Given the description of an element on the screen output the (x, y) to click on. 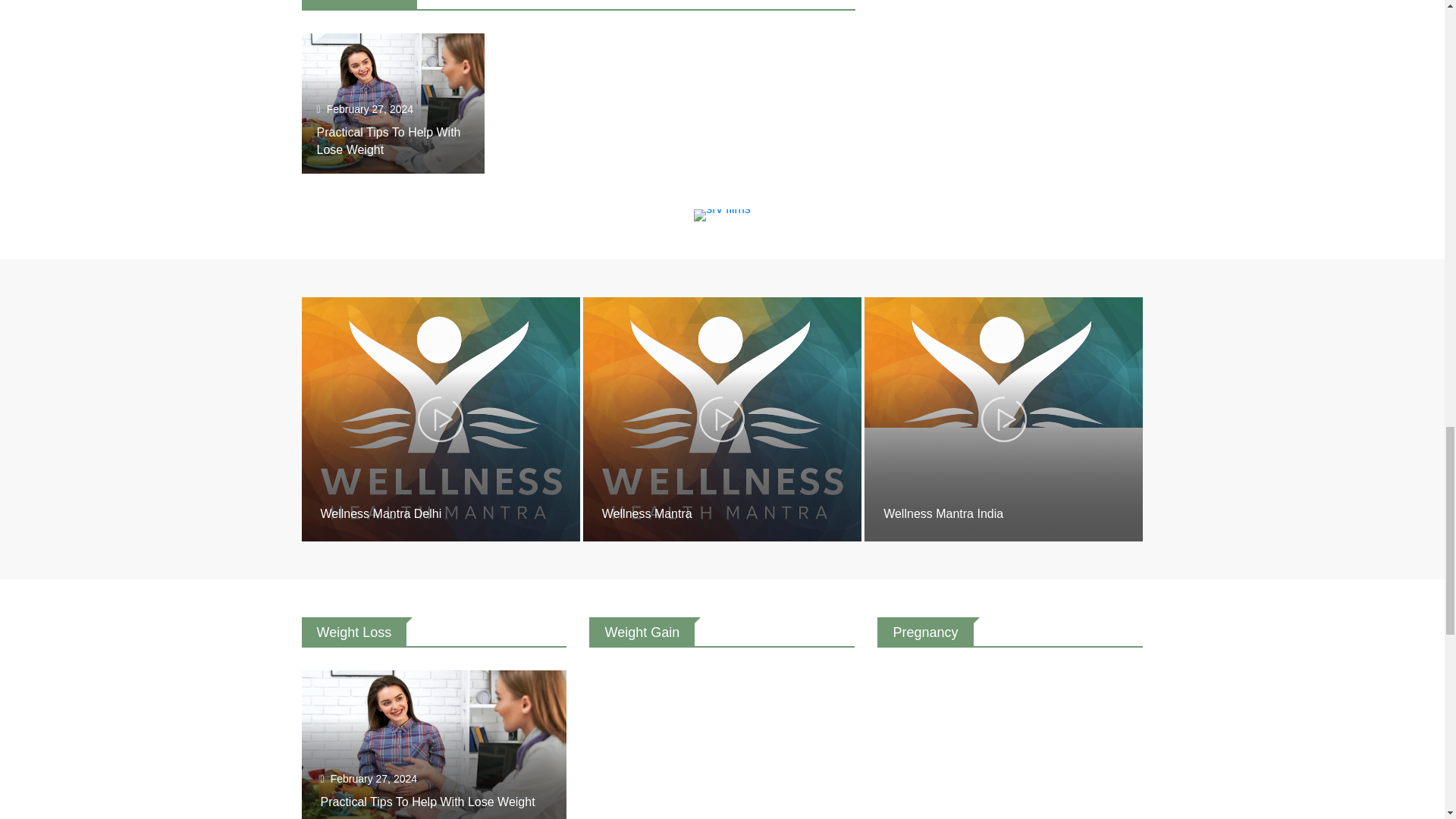
Practical Tips To Help With Lose Weight (389, 140)
Wellness Mantra Delhi (380, 513)
Practical Tips To Help With Lose Weight (392, 103)
Practical Tips To Help With Lose Weight (389, 140)
